Given the description of an element on the screen output the (x, y) to click on. 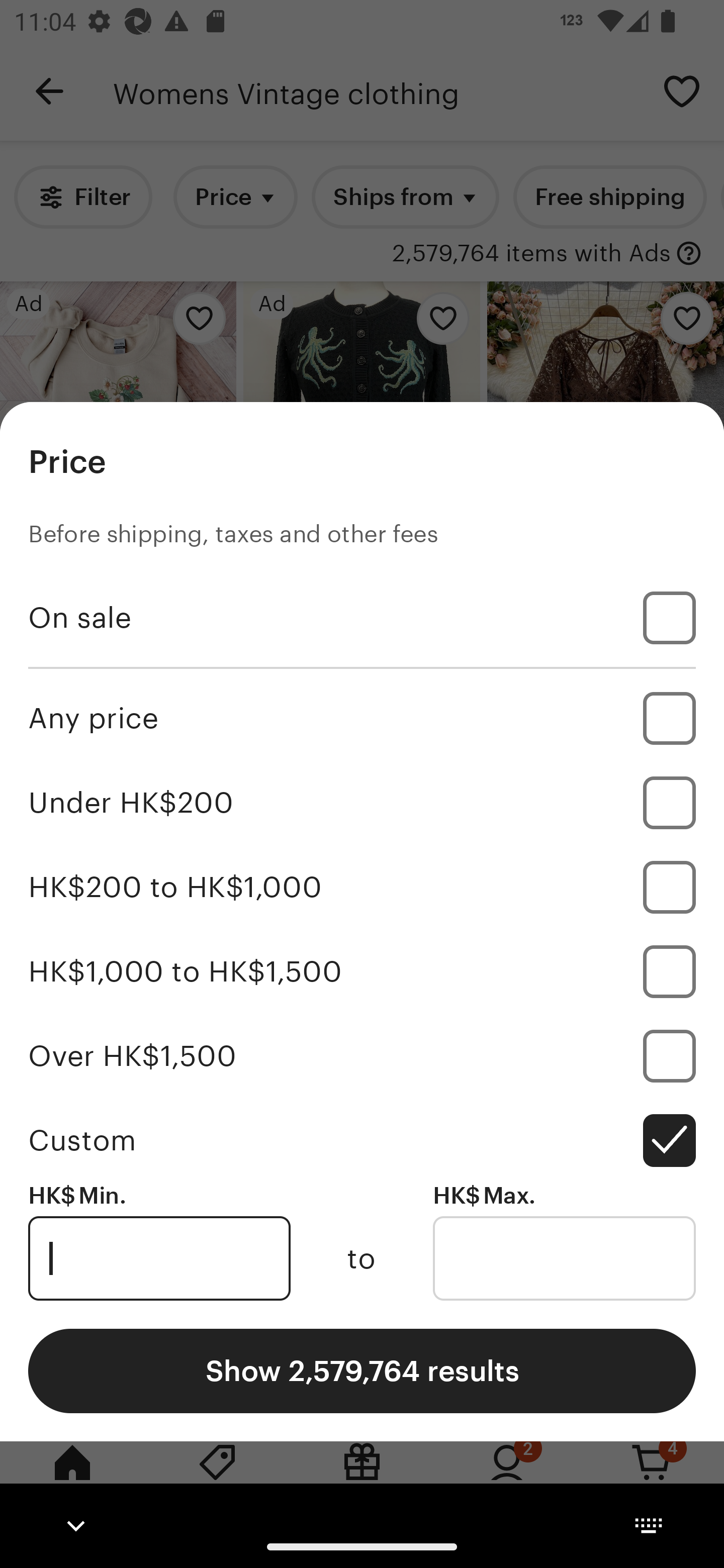
On sale (362, 617)
Any price (362, 717)
Under HK$200 (362, 802)
HK$200 to HK$1,000 (362, 887)
HK$1,000 to HK$1,500 (362, 970)
Over HK$1,500 (362, 1054)
Custom (362, 1139)
Show 2,579,764 results (361, 1370)
